Given the description of an element on the screen output the (x, y) to click on. 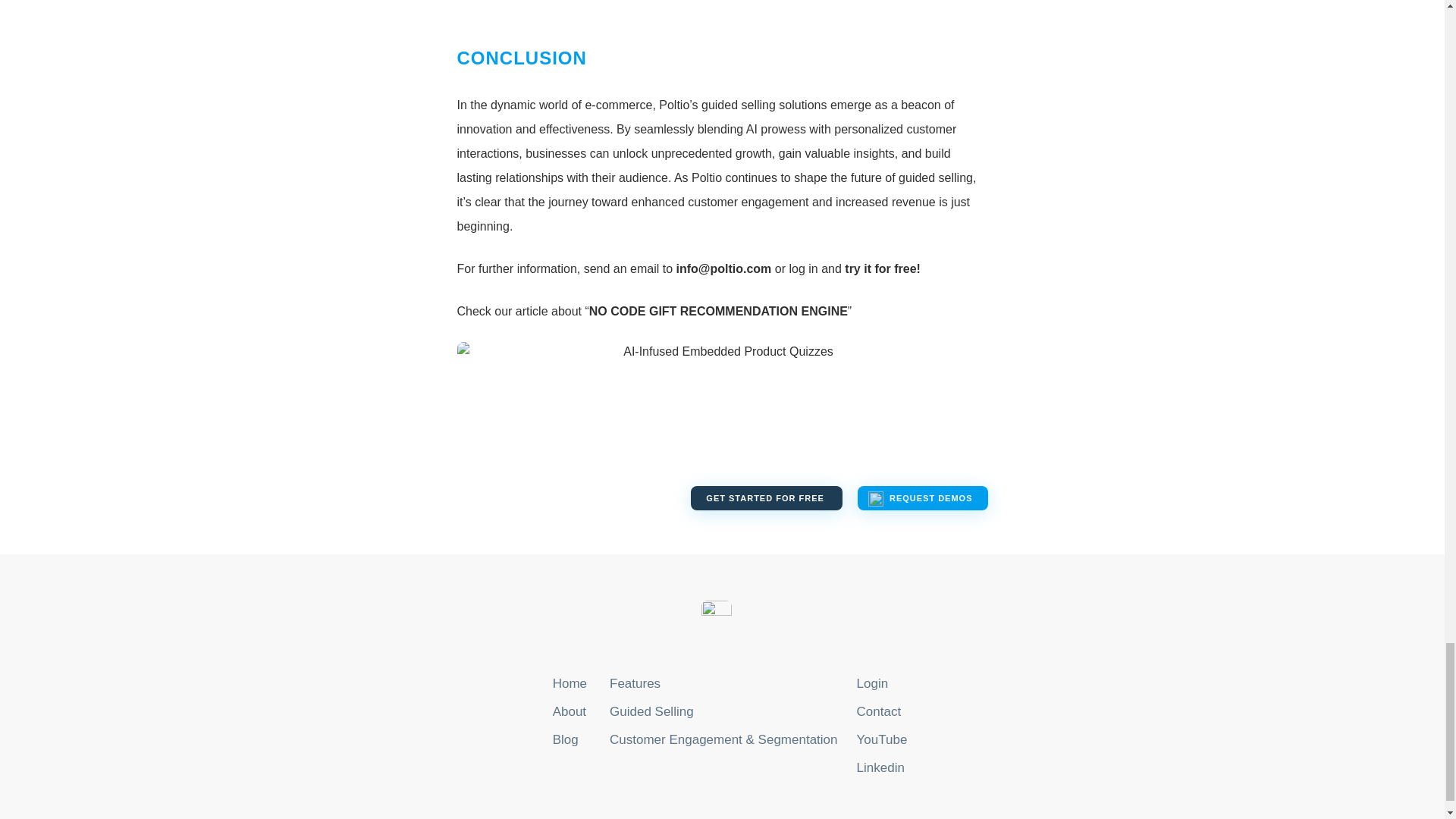
NO CODE GIFT RECOMMENDATION ENGINE (718, 310)
try it for free! (882, 268)
About (569, 711)
REQUEST DEMOS (922, 498)
GET STARTED FOR FREE (766, 498)
Embed (722, 7)
Home (569, 683)
